Given the description of an element on the screen output the (x, y) to click on. 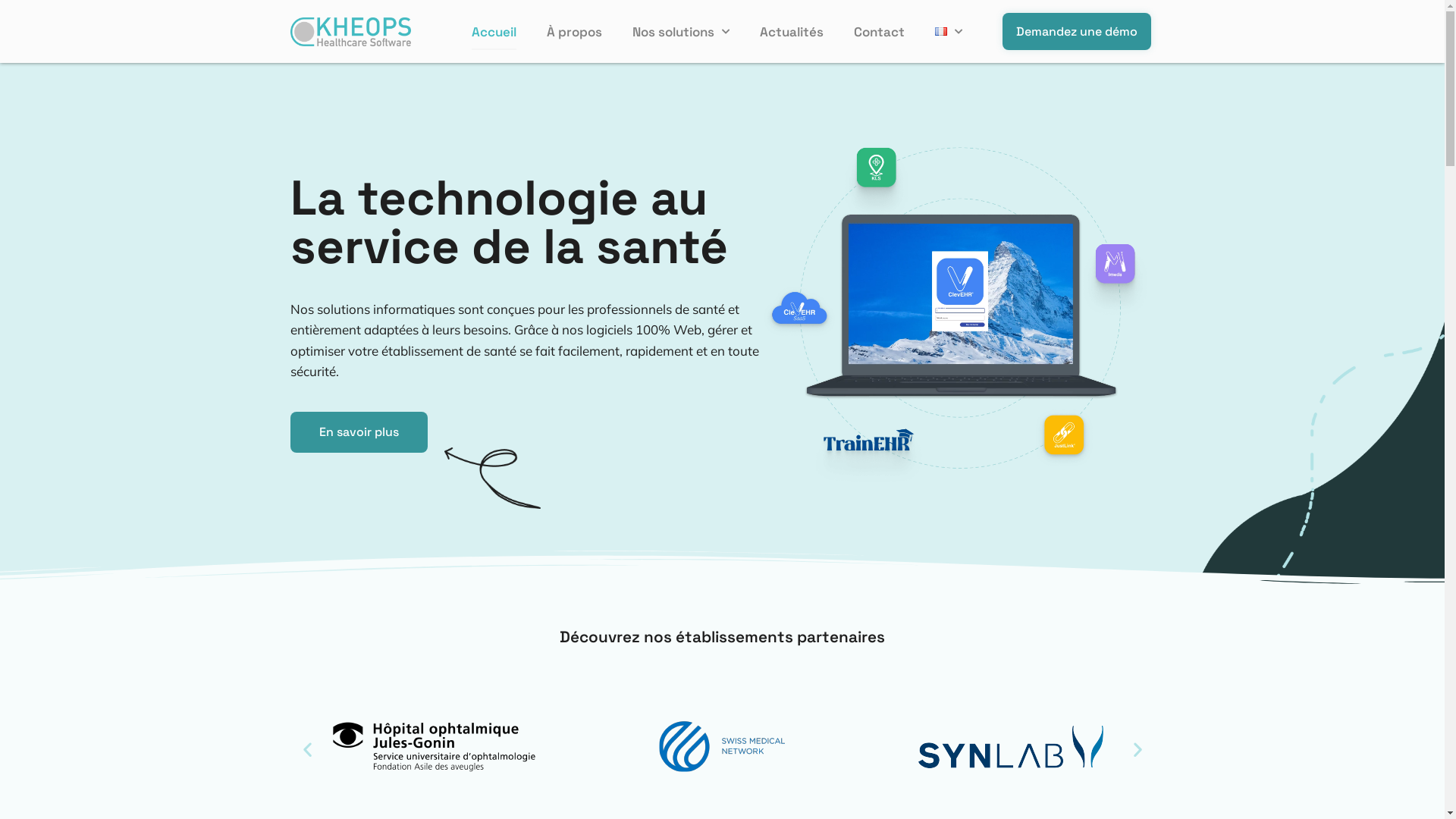
Accueil Element type: text (493, 31)
En savoir plus Element type: text (357, 431)
Nos solutions Element type: text (680, 31)
Contact Element type: text (878, 31)
